Given the description of an element on the screen output the (x, y) to click on. 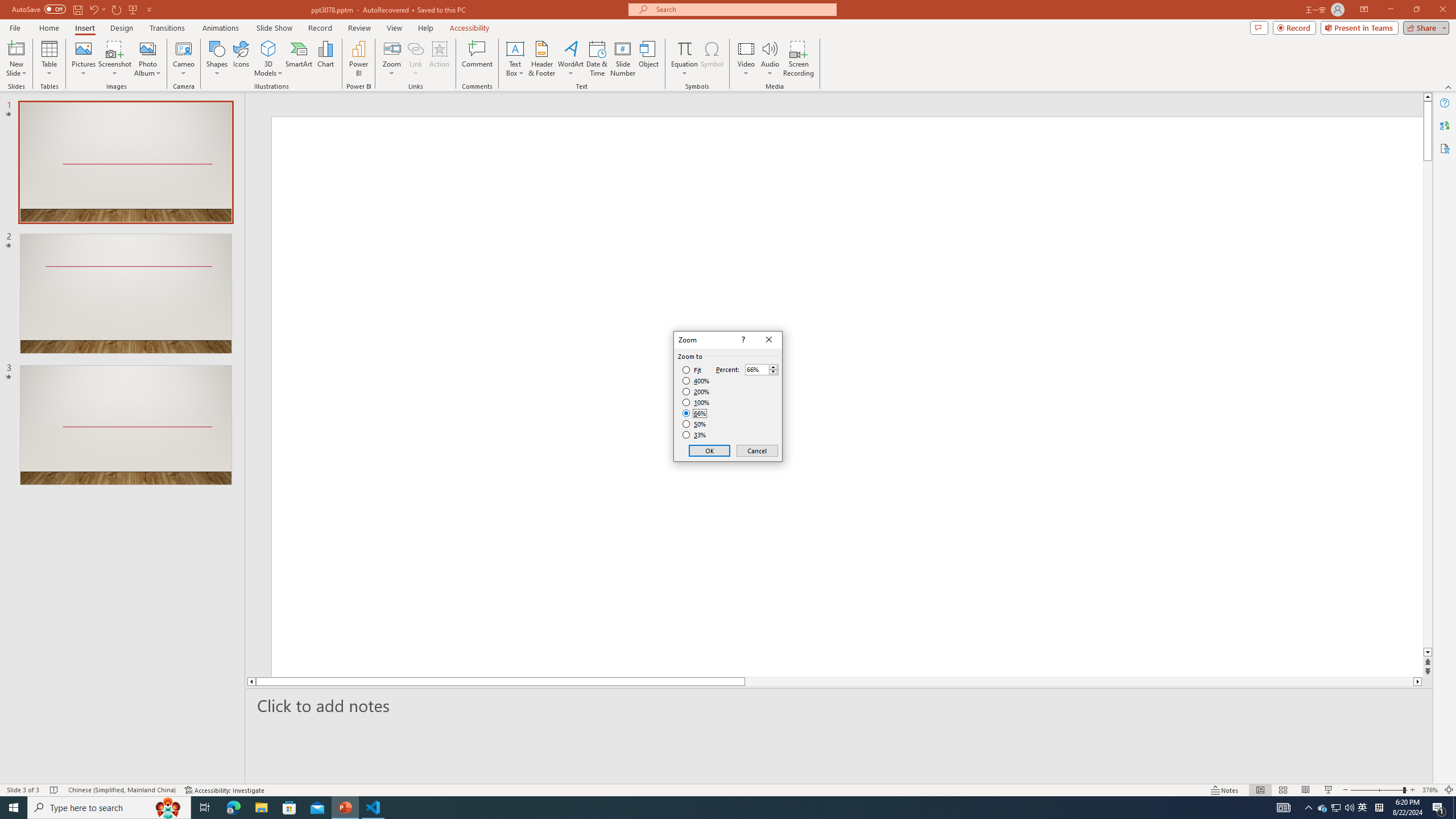
Slide Notes (839, 705)
Photo Album... (147, 58)
100% (696, 402)
66% (694, 412)
Fit (691, 370)
3D Models (268, 48)
Cancel (756, 450)
